Given the description of an element on the screen output the (x, y) to click on. 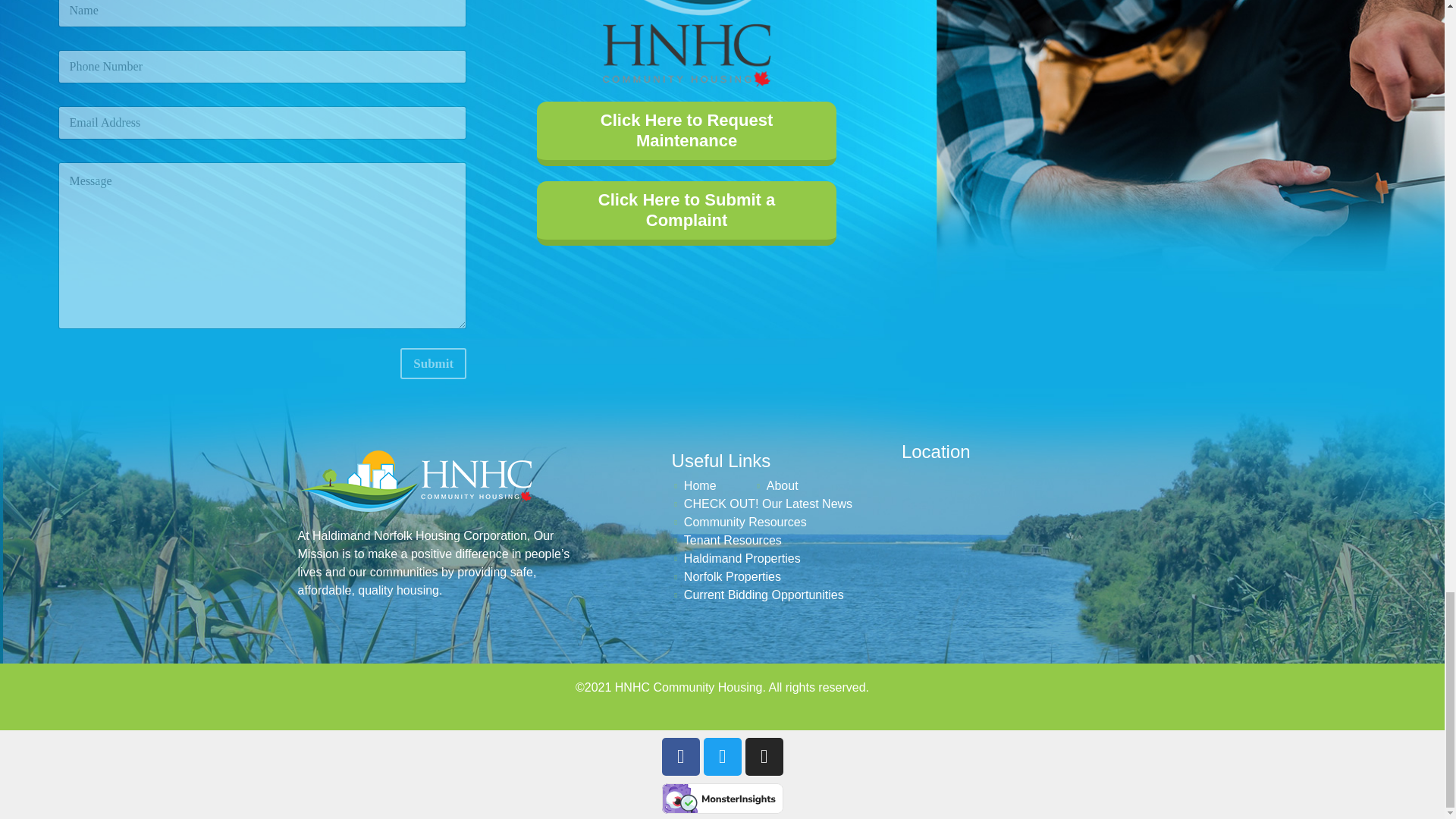
footer-logo (686, 43)
Verified by MonsterInsights (722, 798)
25 Kent St N Unit 2, Simcoe, ON N3Y 3S1 (1027, 541)
